Given the description of an element on the screen output the (x, y) to click on. 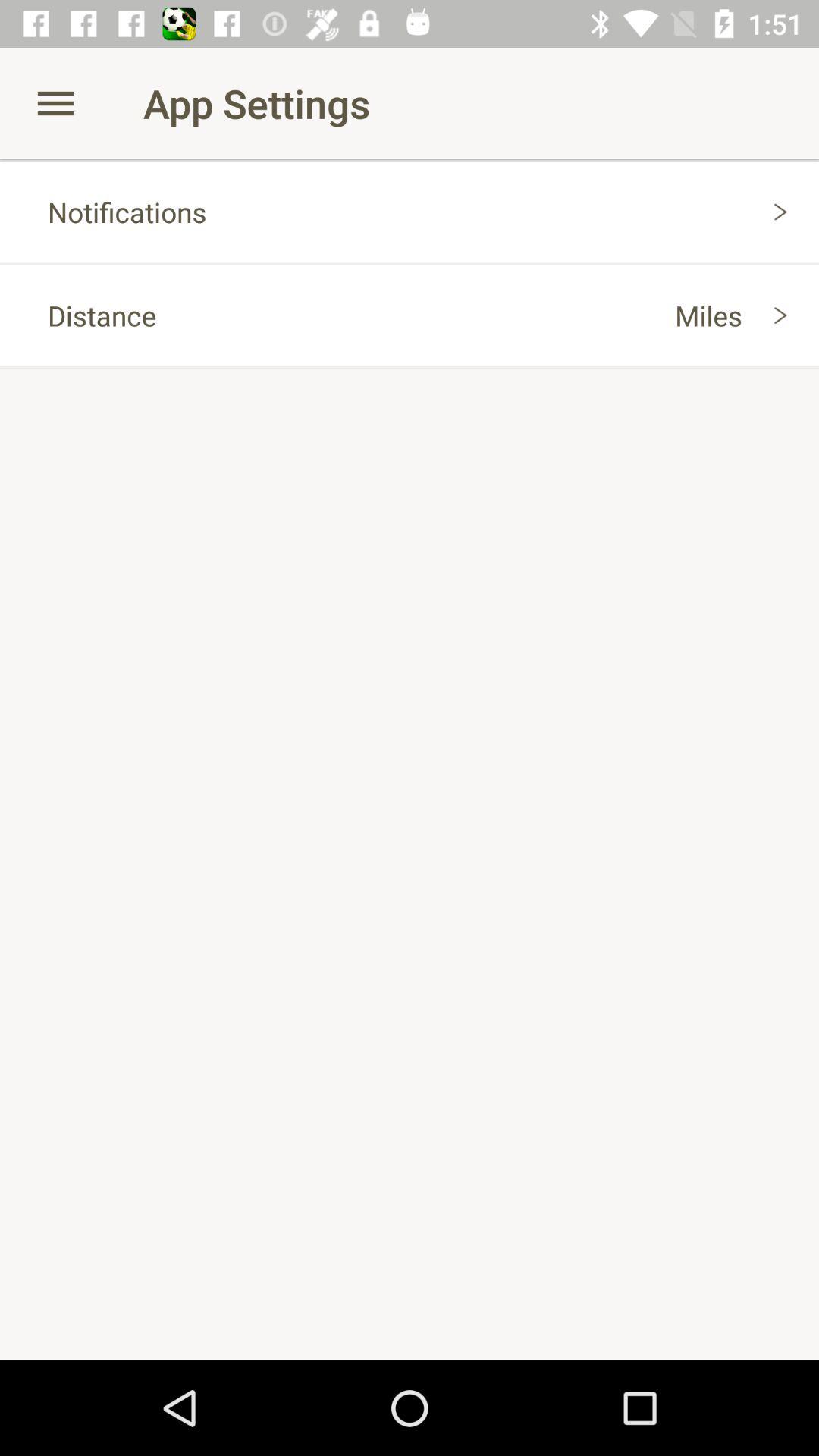
turn on app to the left of app settings icon (55, 103)
